Given the description of an element on the screen output the (x, y) to click on. 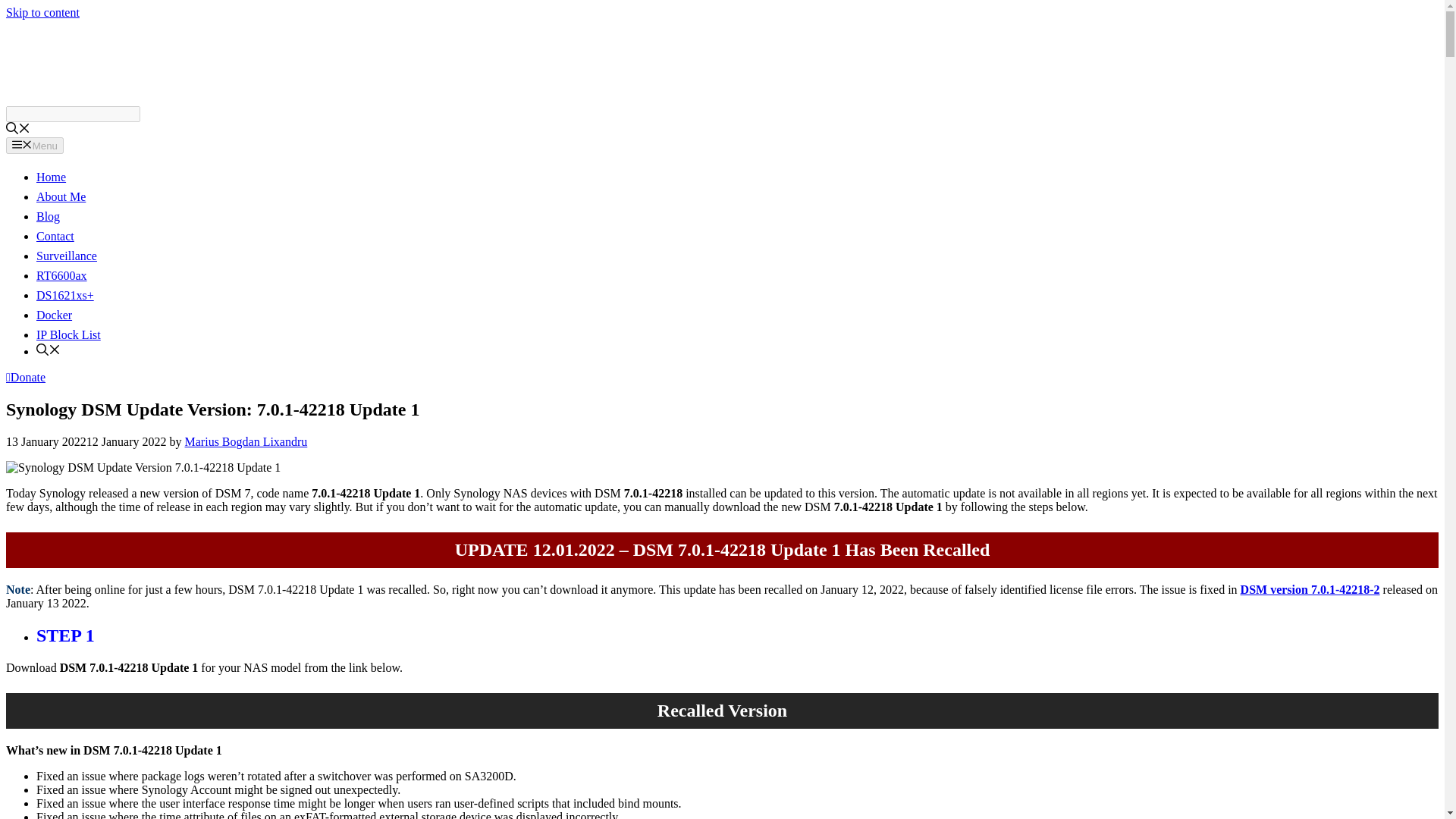
RT6600ax (61, 275)
Home (50, 176)
Menu (34, 145)
View all posts by Marius Bogdan Lixandru (245, 440)
DSM version 7.0.1-42218-2 (1310, 589)
Skip to content (42, 11)
About Me (60, 196)
IP Block List (68, 334)
Search (72, 114)
Marius Bogdan Lixandru (245, 440)
Contact (55, 236)
Skip to content (42, 11)
Blog (47, 215)
Docker (53, 314)
Surveillance (66, 255)
